Given the description of an element on the screen output the (x, y) to click on. 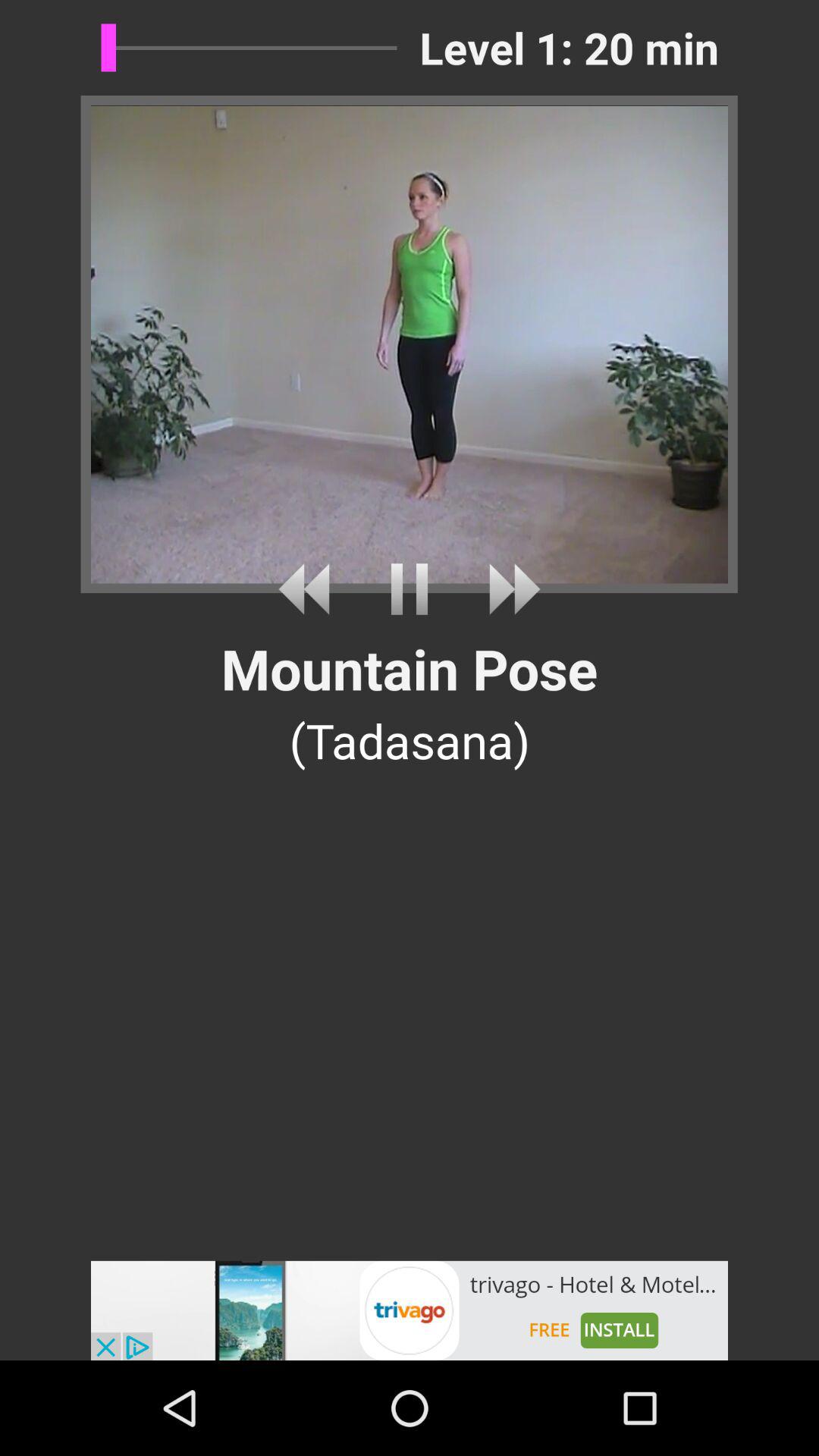
open advertisements (409, 1310)
